Given the description of an element on the screen output the (x, y) to click on. 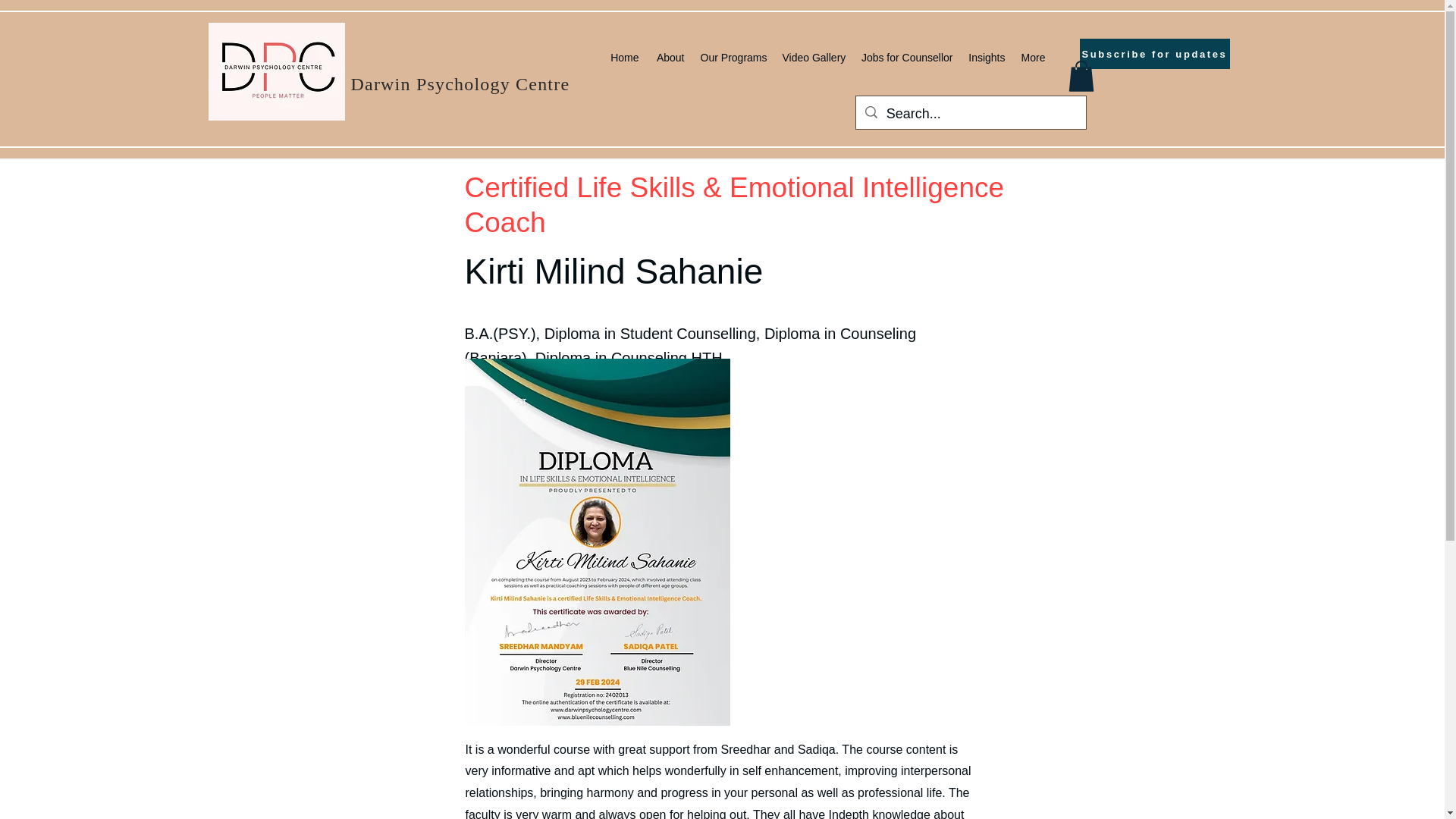
Jobs for Counsellor (905, 56)
Video Gallery (813, 56)
About (668, 56)
Subscribe for updates (1155, 53)
Our Programs (732, 56)
Insights (985, 56)
Home (624, 56)
